Given the description of an element on the screen output the (x, y) to click on. 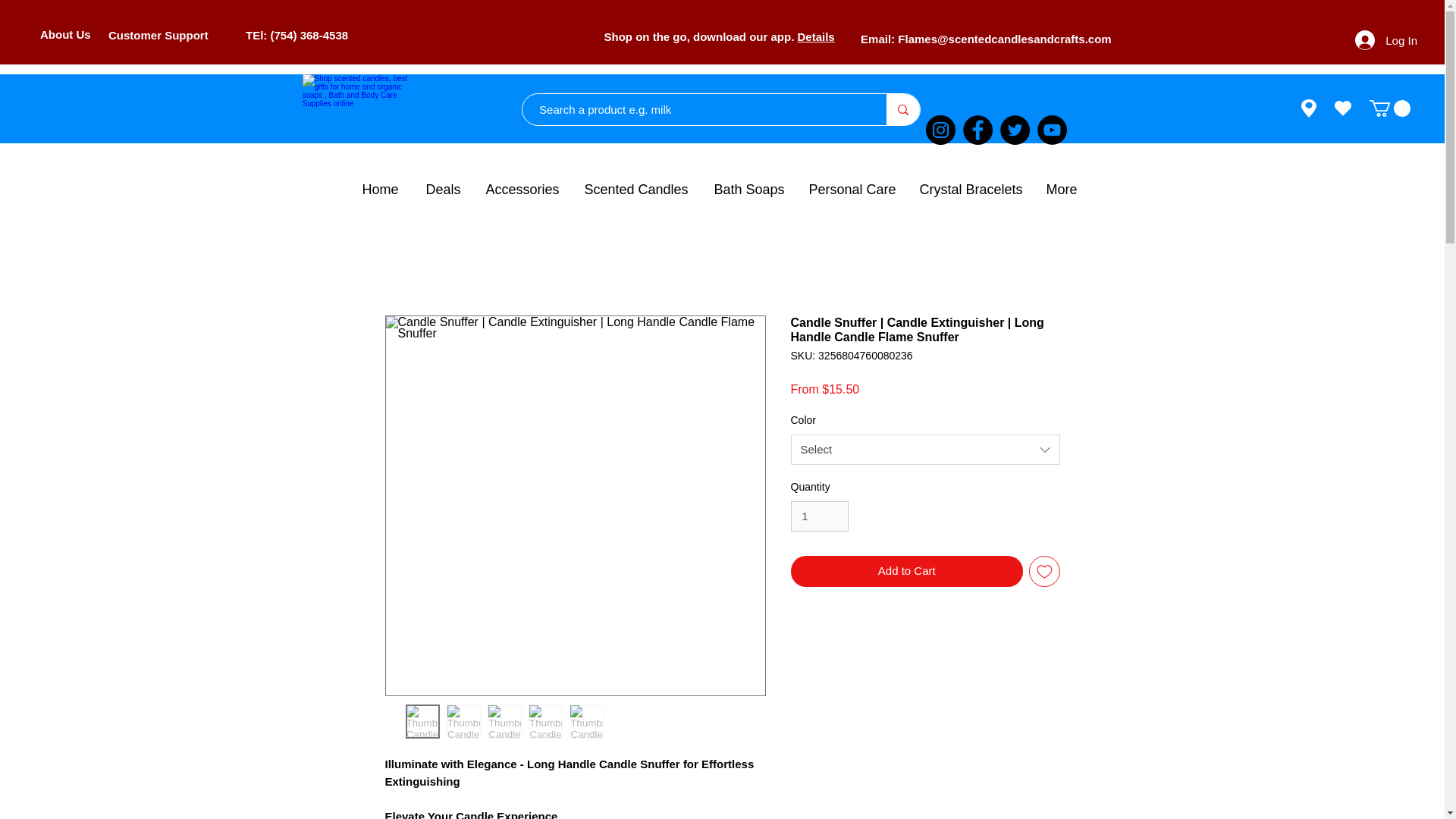
About Us (65, 33)
Accessories (523, 189)
Crystal Bracelets (971, 189)
Customer Support (157, 34)
Personal Care (852, 189)
Select (924, 449)
Scented Candles (638, 189)
Home (381, 189)
Bath Soaps (748, 189)
Details (815, 36)
Log In (1385, 39)
Email: (879, 38)
Deals (443, 189)
Add to Cart (906, 571)
1 (818, 516)
